Given the description of an element on the screen output the (x, y) to click on. 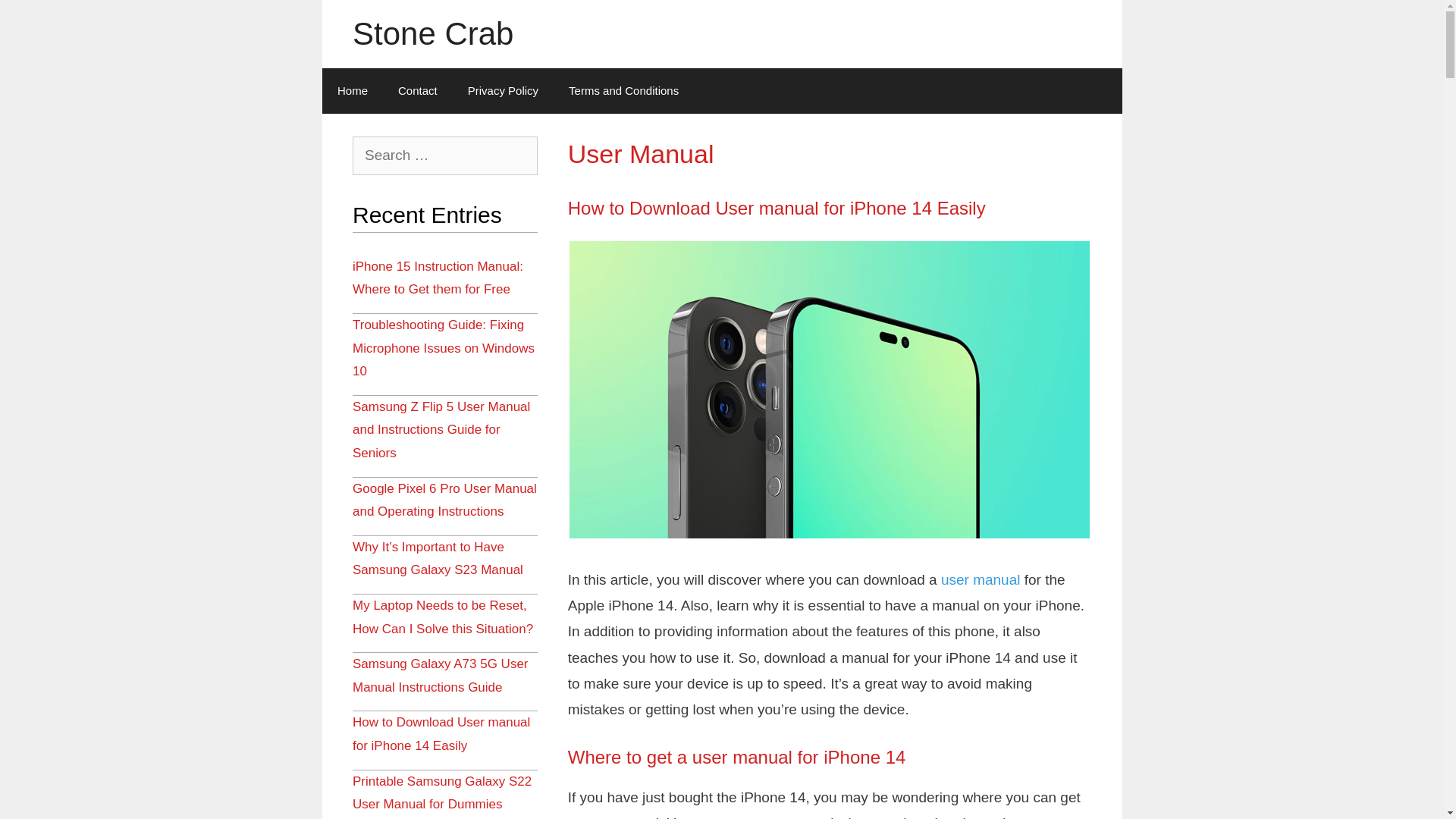
How to Download User manual for iPhone 14 Easily Element type: text (441, 734)
Printable Samsung Galaxy S22 User Manual for Dummies Element type: text (441, 793)
Contact Element type: text (417, 90)
Google Pixel 6 Pro User Manual and Operating Instructions Element type: text (444, 500)
Privacy Policy Element type: text (502, 90)
iPhone 15 Instruction Manual: Where to Get them for Free Element type: text (437, 278)
Terms and Conditions Element type: text (623, 90)
How to Download User manual for iPhone 14 Easily Element type: text (776, 207)
user manual Element type: text (980, 579)
Search Element type: text (38, 19)
Samsung Galaxy A73 5G User Manual Instructions Guide Element type: text (440, 675)
Stone Crab Element type: text (432, 33)
My Laptop Needs to be Reset, How Can I Solve this Situation? Element type: text (442, 617)
Home Element type: text (352, 90)
Search for: Element type: hover (444, 155)
